Given the description of an element on the screen output the (x, y) to click on. 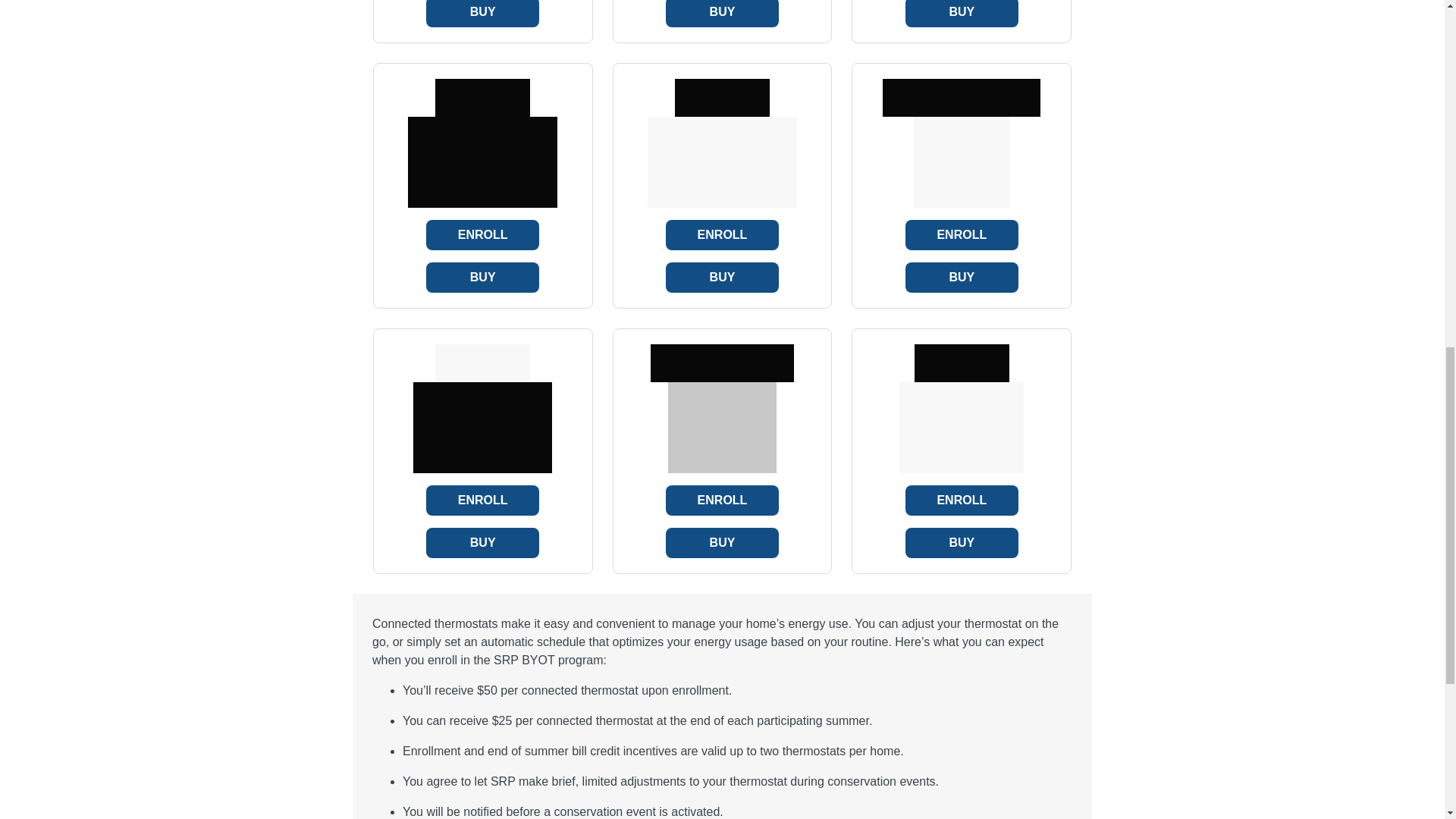
ENROLL (482, 500)
ENROLL (482, 235)
ENROLL (721, 235)
BUY (961, 542)
ENROLL (721, 500)
BUY (961, 13)
BUY (721, 277)
ENROLL (961, 500)
BUY (482, 277)
BUY (721, 13)
BUY (482, 13)
ENROLL (961, 235)
BUY (482, 542)
BUY (961, 277)
BUY (721, 542)
